Given the description of an element on the screen output the (x, y) to click on. 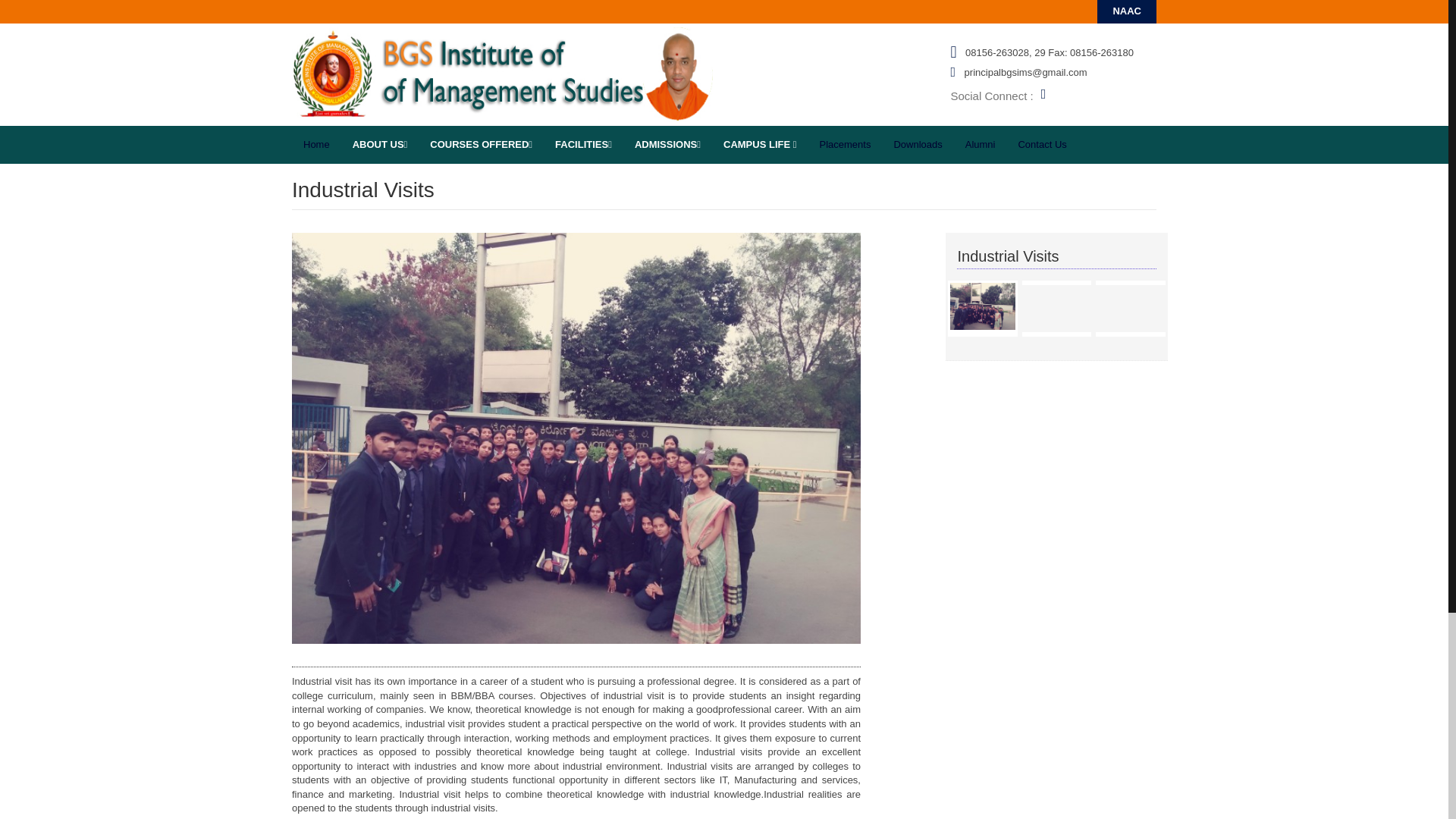
NAAC (1126, 10)
Home (316, 144)
FACILITIES (583, 144)
ADMISSIONS (667, 144)
COURSES OFFERED (481, 144)
ABOUT US (379, 144)
CAMPUS LIFE (759, 144)
Social Connect : (991, 95)
